Given the description of an element on the screen output the (x, y) to click on. 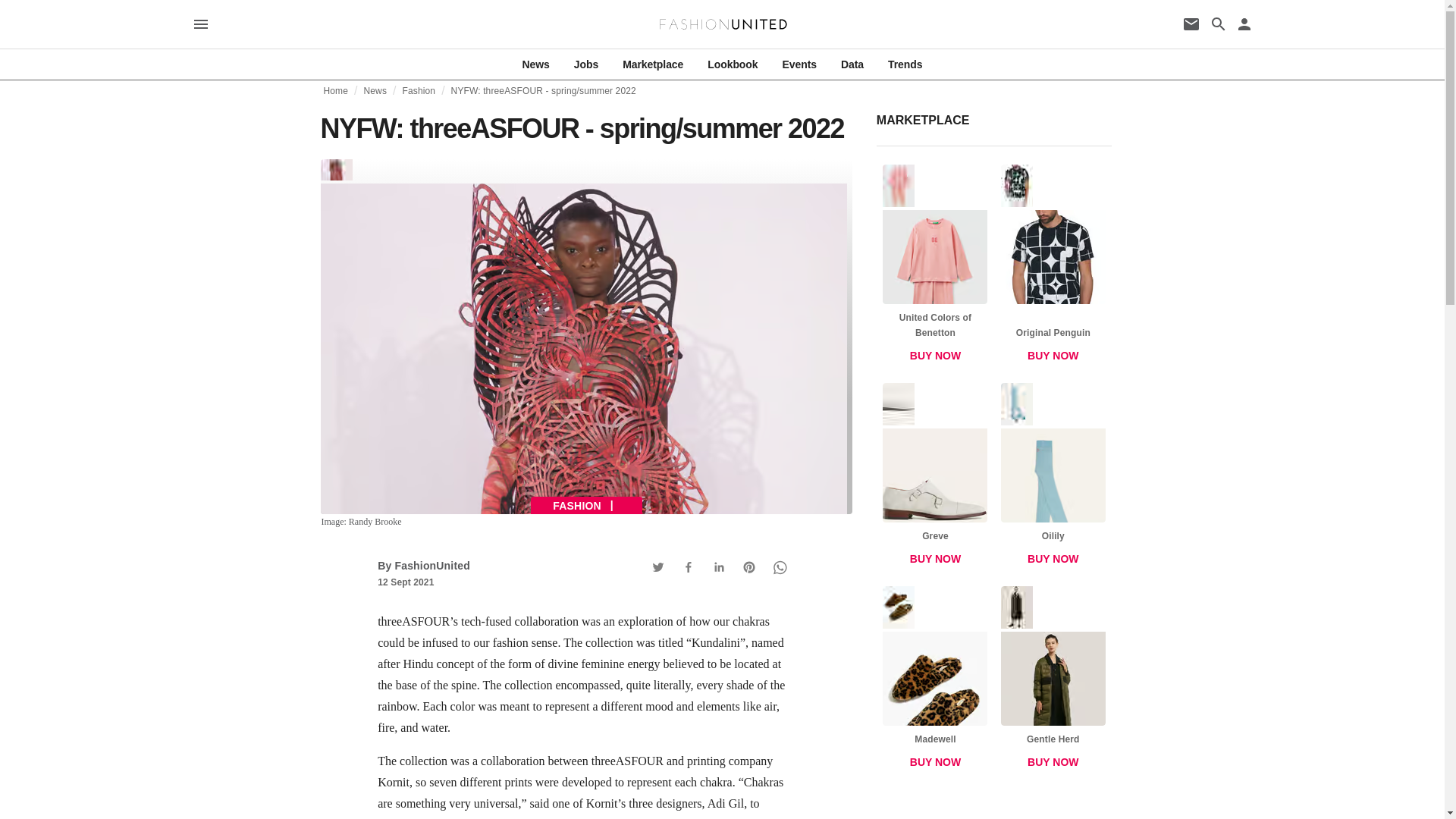
News (536, 64)
BUY NOW (935, 761)
BUY NOW (935, 558)
Fashion (418, 90)
News (375, 90)
BUY NOW (1053, 761)
Data (852, 64)
BUY NOW (1053, 558)
By FashionUnited (423, 565)
Events (799, 64)
Jobs (586, 64)
BUY NOW (1053, 355)
BUY NOW (935, 355)
Lookbook (732, 64)
Home (335, 90)
